Given the description of an element on the screen output the (x, y) to click on. 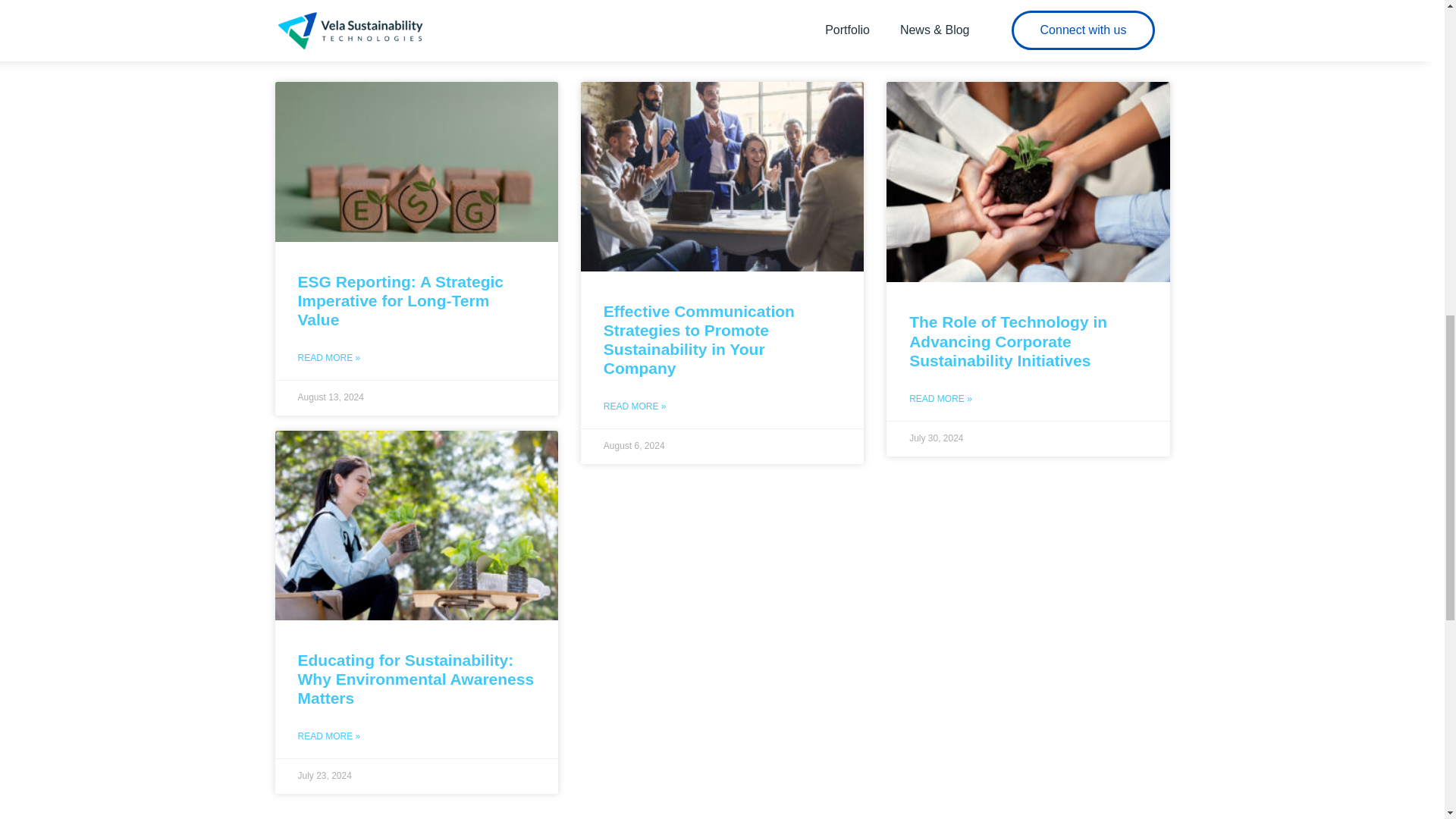
ESG Reporting: A Strategic Imperative for Long-Term Value (399, 300)
